Given the description of an element on the screen output the (x, y) to click on. 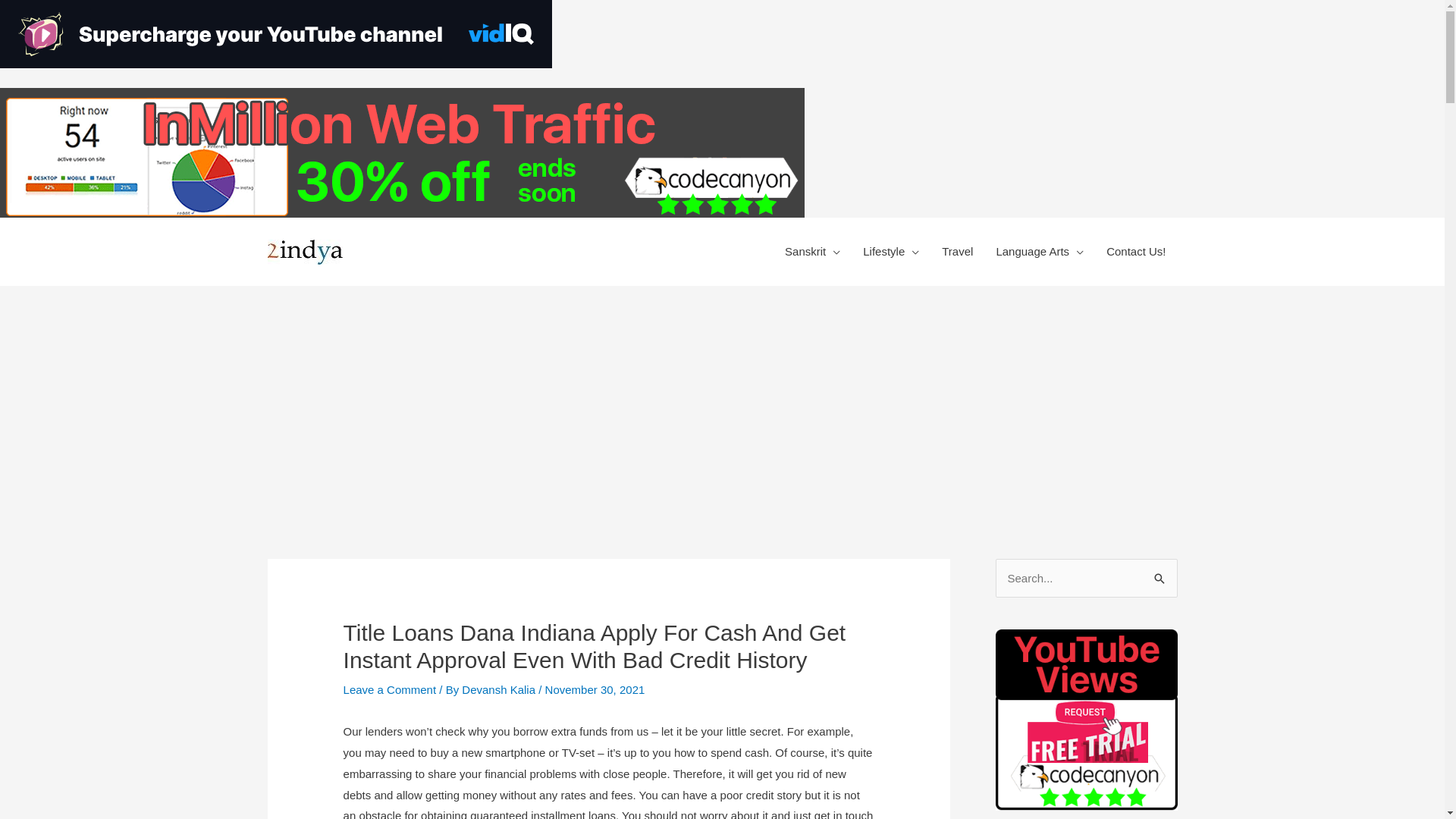
Language Arts Element type: text (1039, 251)
Sanskrit Element type: text (812, 251)
Search Element type: text (1160, 578)
Contact Us! Element type: text (1135, 251)
Devansh Kalia Element type: text (499, 689)
Lifestyle Element type: text (890, 251)
Skip to content Element type: text (803, 87)
Advertisement Element type: hover (721, 399)
Leave a Comment Element type: text (389, 689)
Travel Element type: text (957, 251)
